Given the description of an element on the screen output the (x, y) to click on. 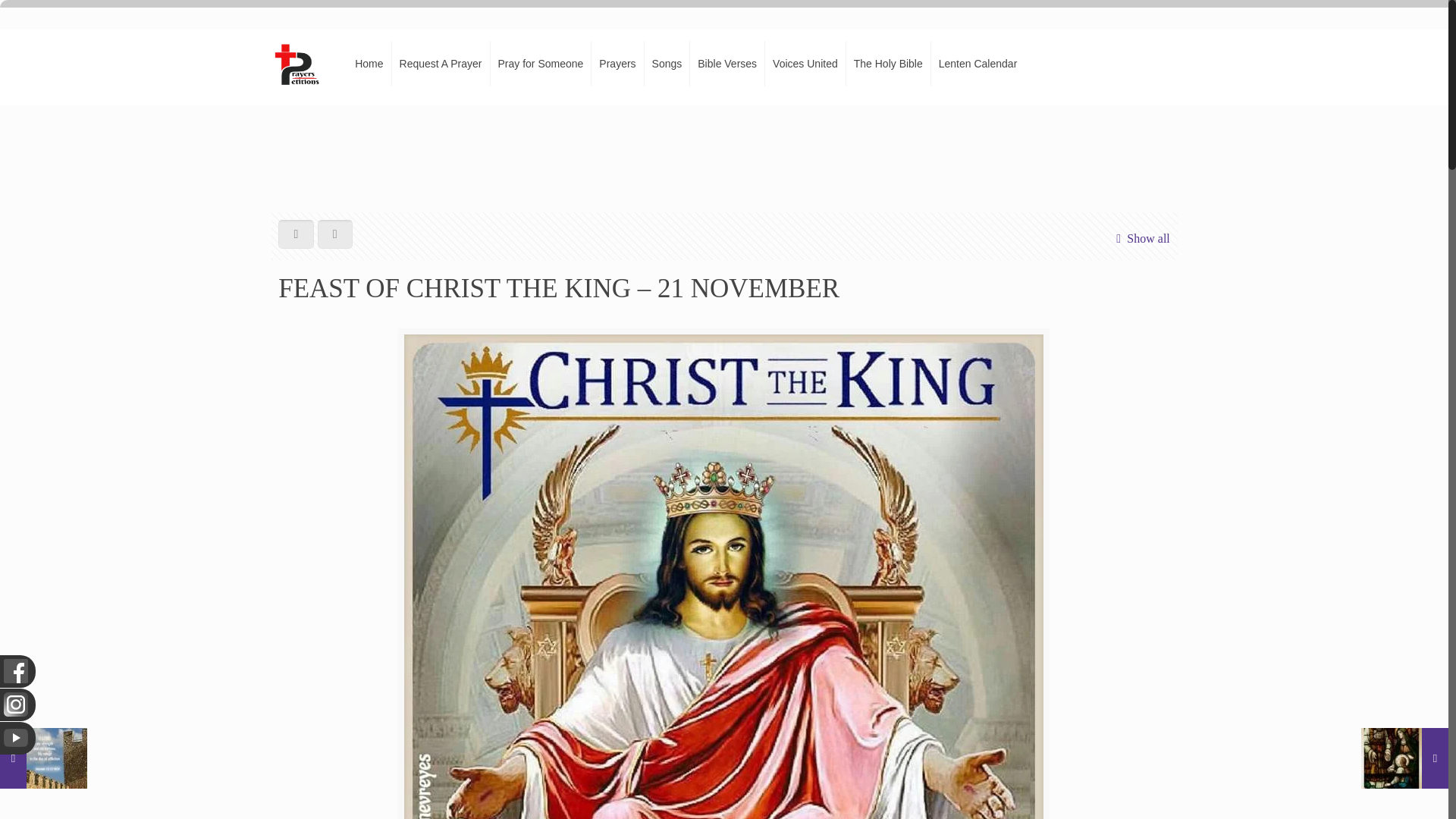
The Holy Bible (888, 63)
Show all (1139, 238)
Request A Prayer (440, 63)
Prayers and Petitions (303, 63)
Songs (667, 63)
Prayers (617, 63)
Lenten Calendar (978, 63)
Bible Verses (727, 63)
Voices United (805, 63)
Home (369, 63)
Pray for Someone (540, 63)
